Given the description of an element on the screen output the (x, y) to click on. 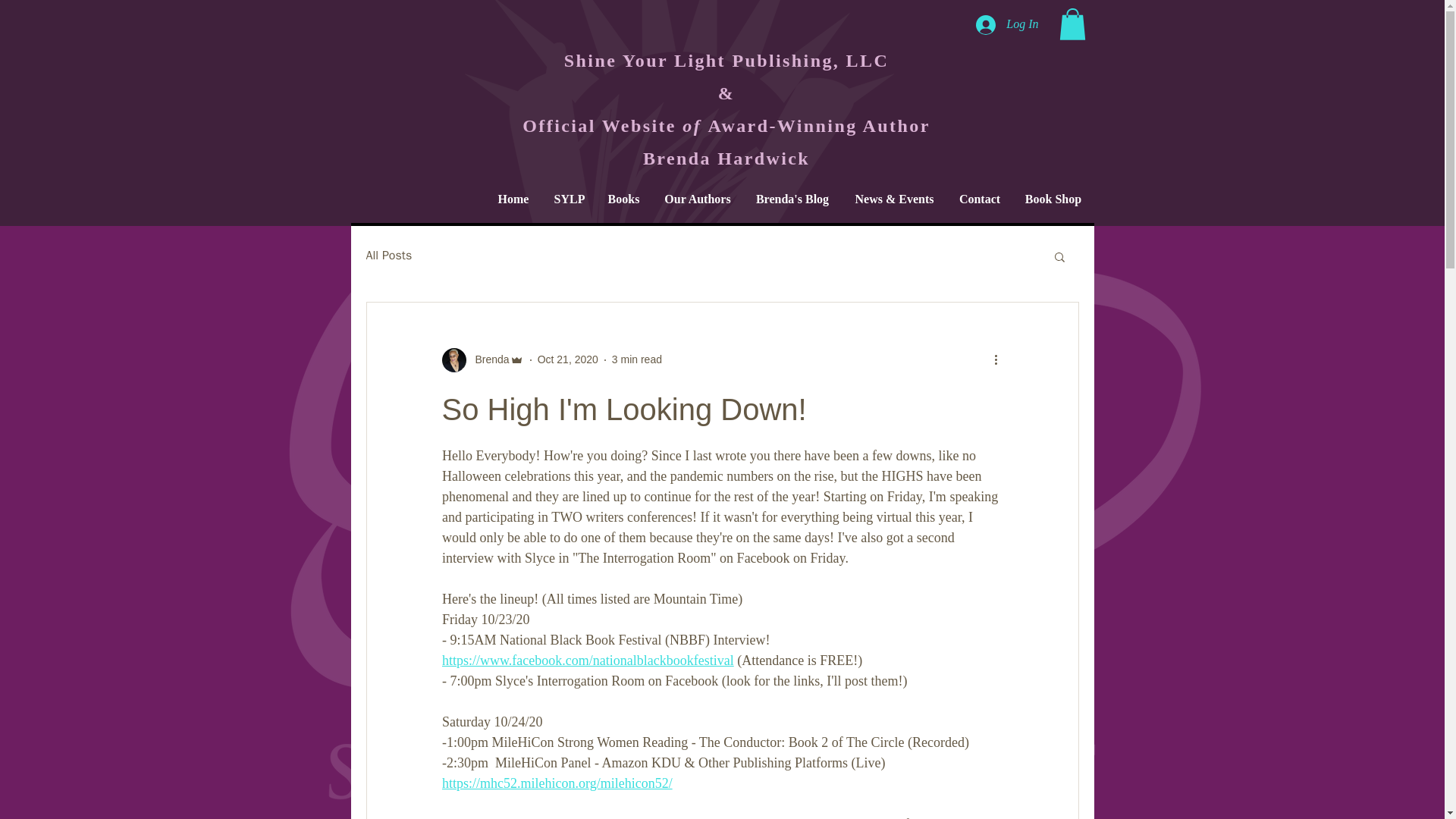
Oct 21, 2020 (567, 358)
Contact (978, 199)
Home (512, 199)
Brenda's Blog (791, 199)
Log In (1006, 24)
Book Shop (1052, 199)
Books (622, 199)
Brenda (481, 360)
Brenda (486, 359)
SYLP (567, 199)
3 min read (636, 358)
Our Authors (697, 199)
All Posts (388, 255)
